Given the description of an element on the screen output the (x, y) to click on. 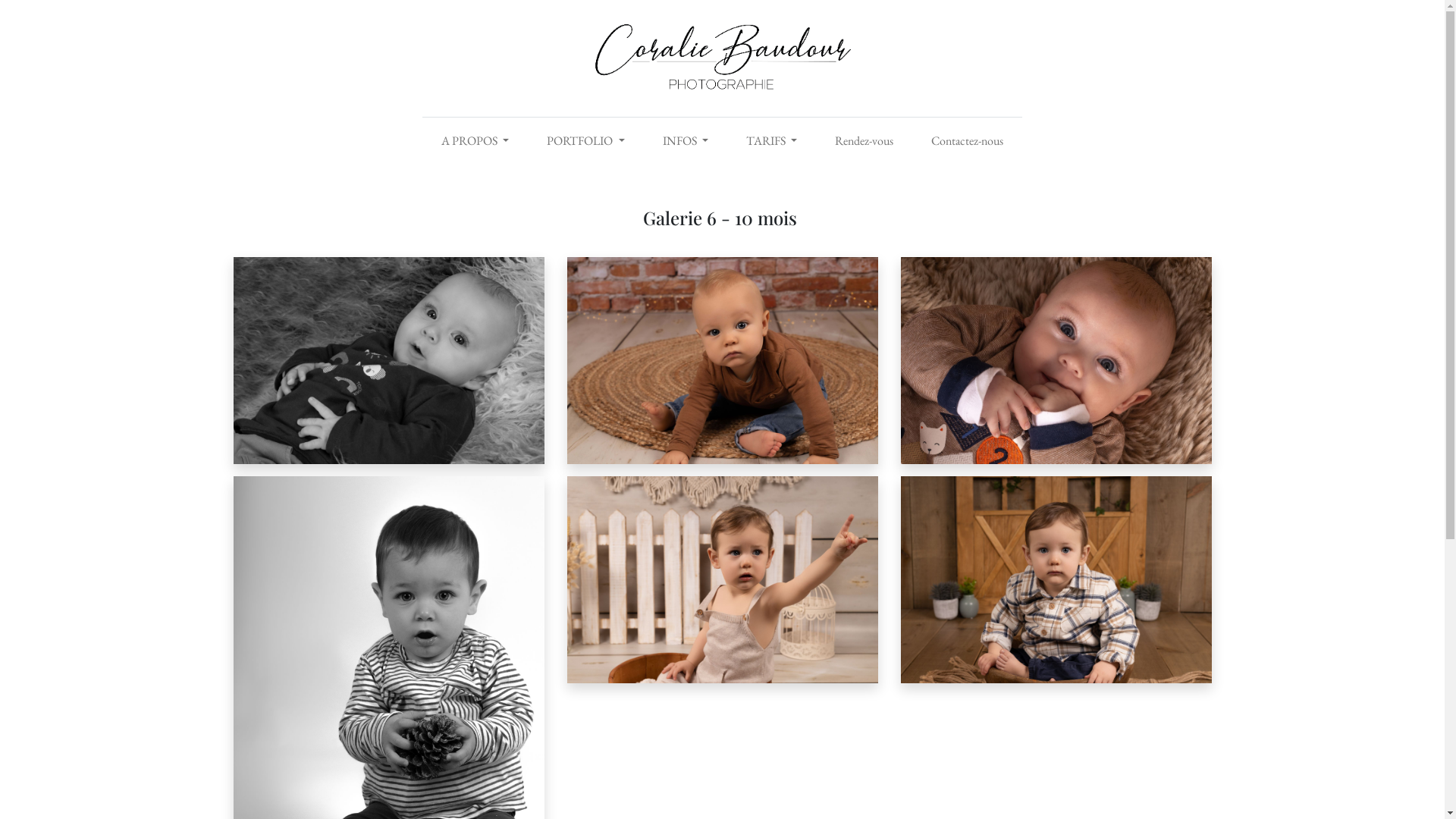
TARIFS Element type: text (771, 140)
INFOS Element type: text (684, 140)
Rendez-vous Element type: text (863, 140)
Contactez-nous Element type: text (967, 140)
PORTFOLIO Element type: text (585, 140)
A PROPOS Element type: text (474, 140)
